Given the description of an element on the screen output the (x, y) to click on. 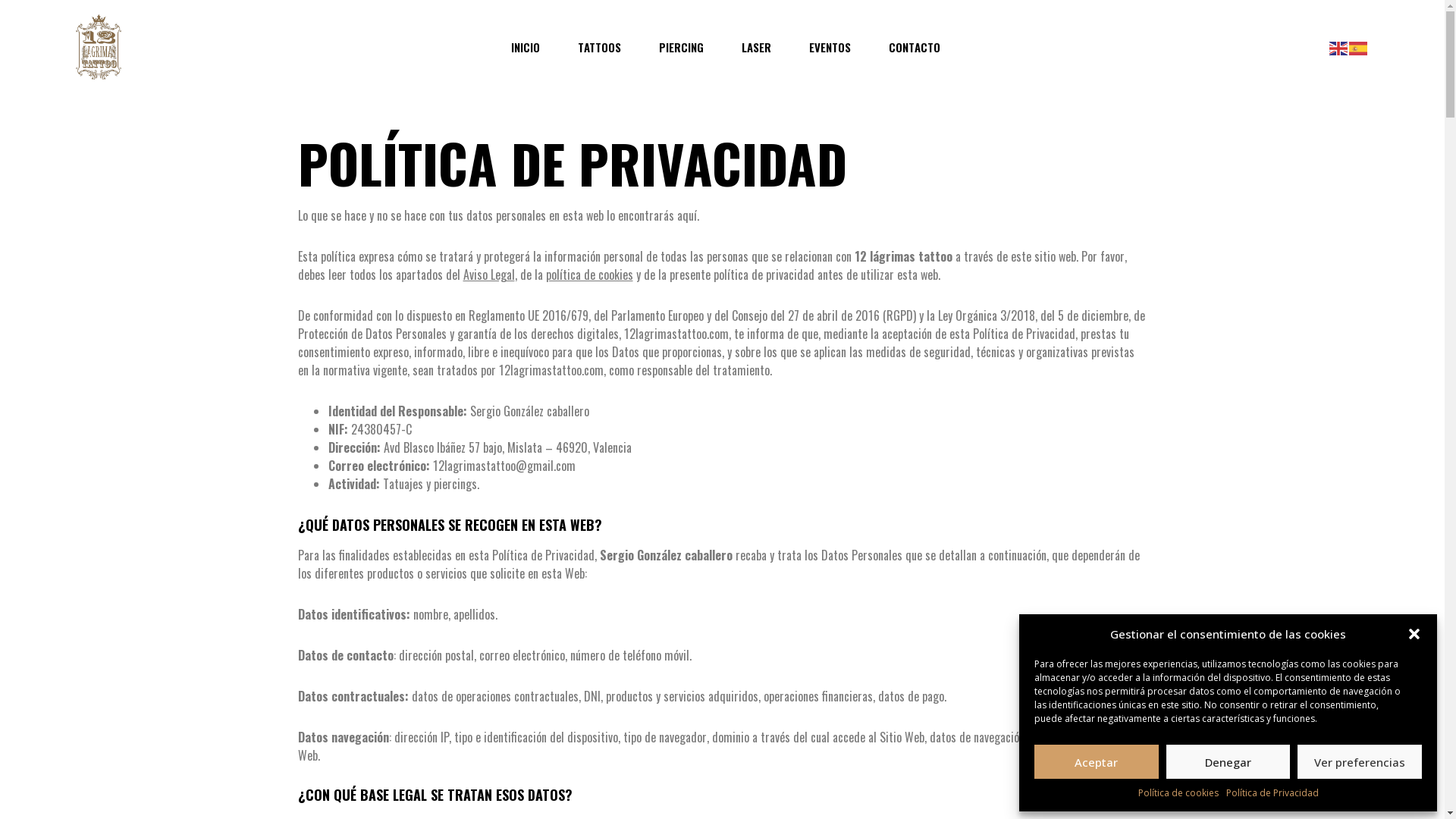
PIERCING Element type: text (680, 46)
INICIO Element type: text (525, 46)
Ver preferencias Element type: text (1359, 761)
Denegar Element type: text (1228, 761)
TATTOOS Element type: text (599, 46)
CONTACTO Element type: text (914, 46)
Aceptar Element type: text (1096, 761)
EVENTOS Element type: text (829, 46)
LASER Element type: text (756, 46)
English Element type: hover (1339, 46)
